Given the description of an element on the screen output the (x, y) to click on. 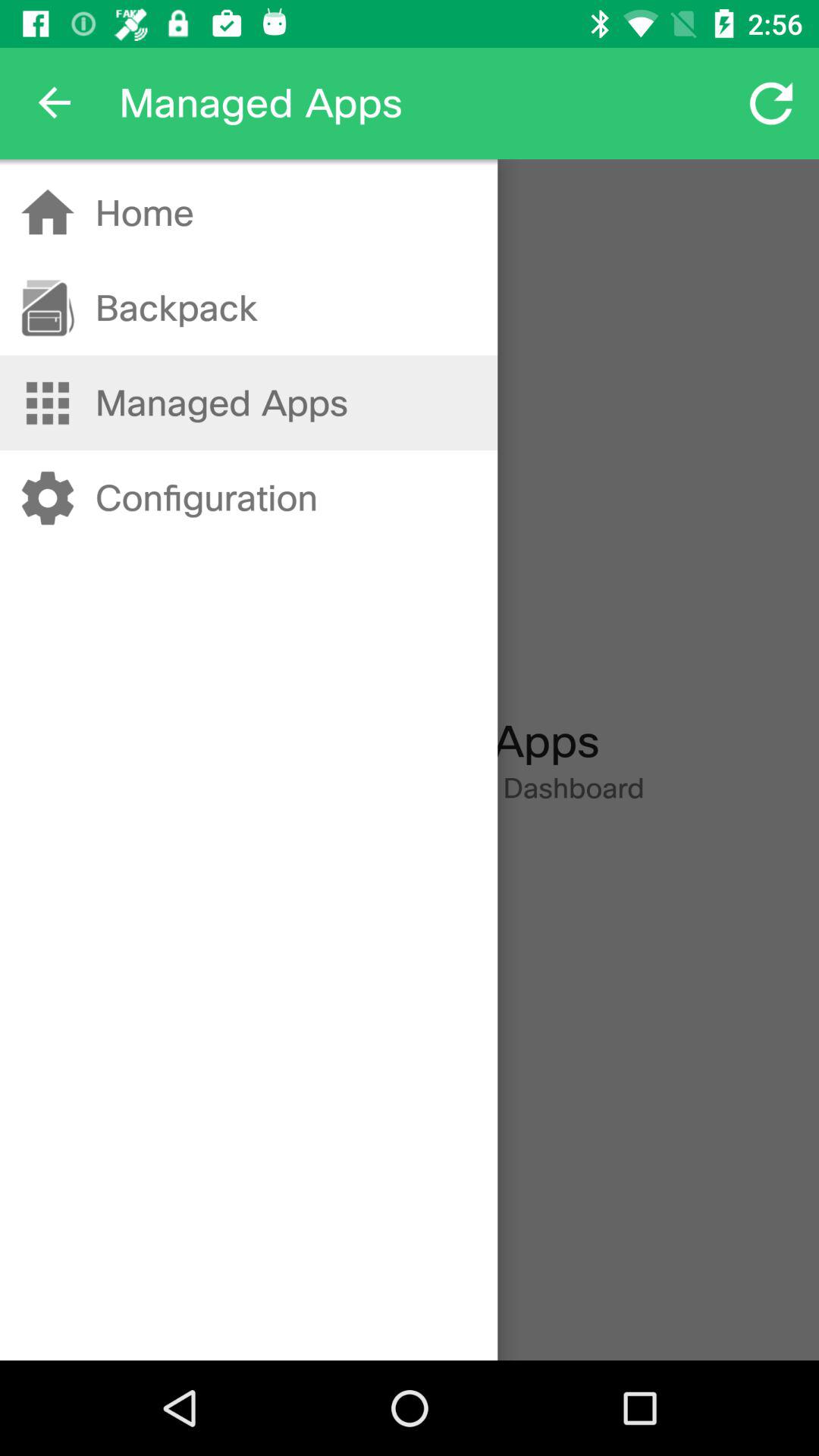
press the backpack (176, 307)
